Given the description of an element on the screen output the (x, y) to click on. 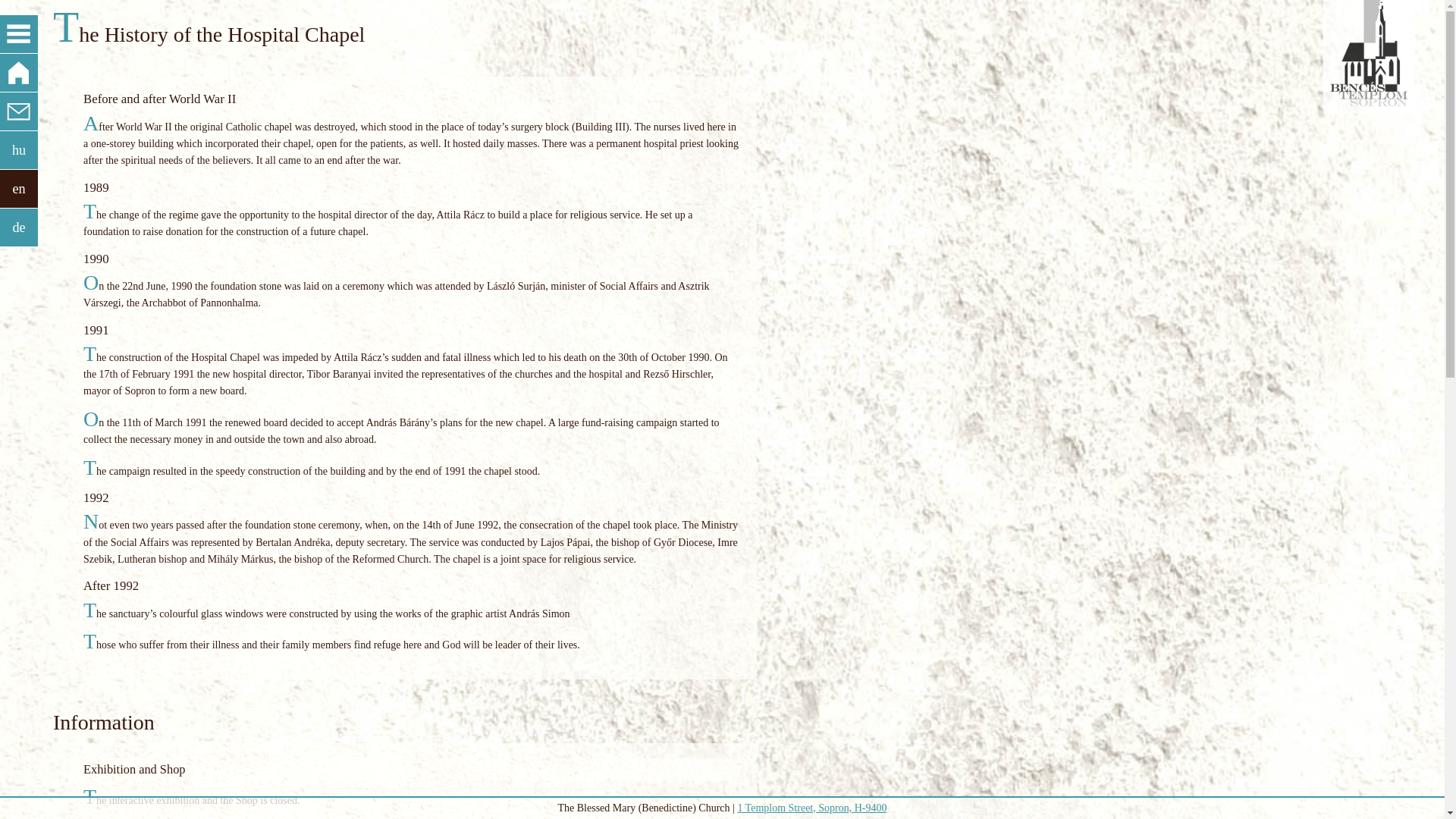
1 Templom Street, Sopron, H-9400 (811, 808)
de (18, 227)
Contact (18, 111)
hu (18, 149)
en (18, 188)
Home (18, 72)
